Given the description of an element on the screen output the (x, y) to click on. 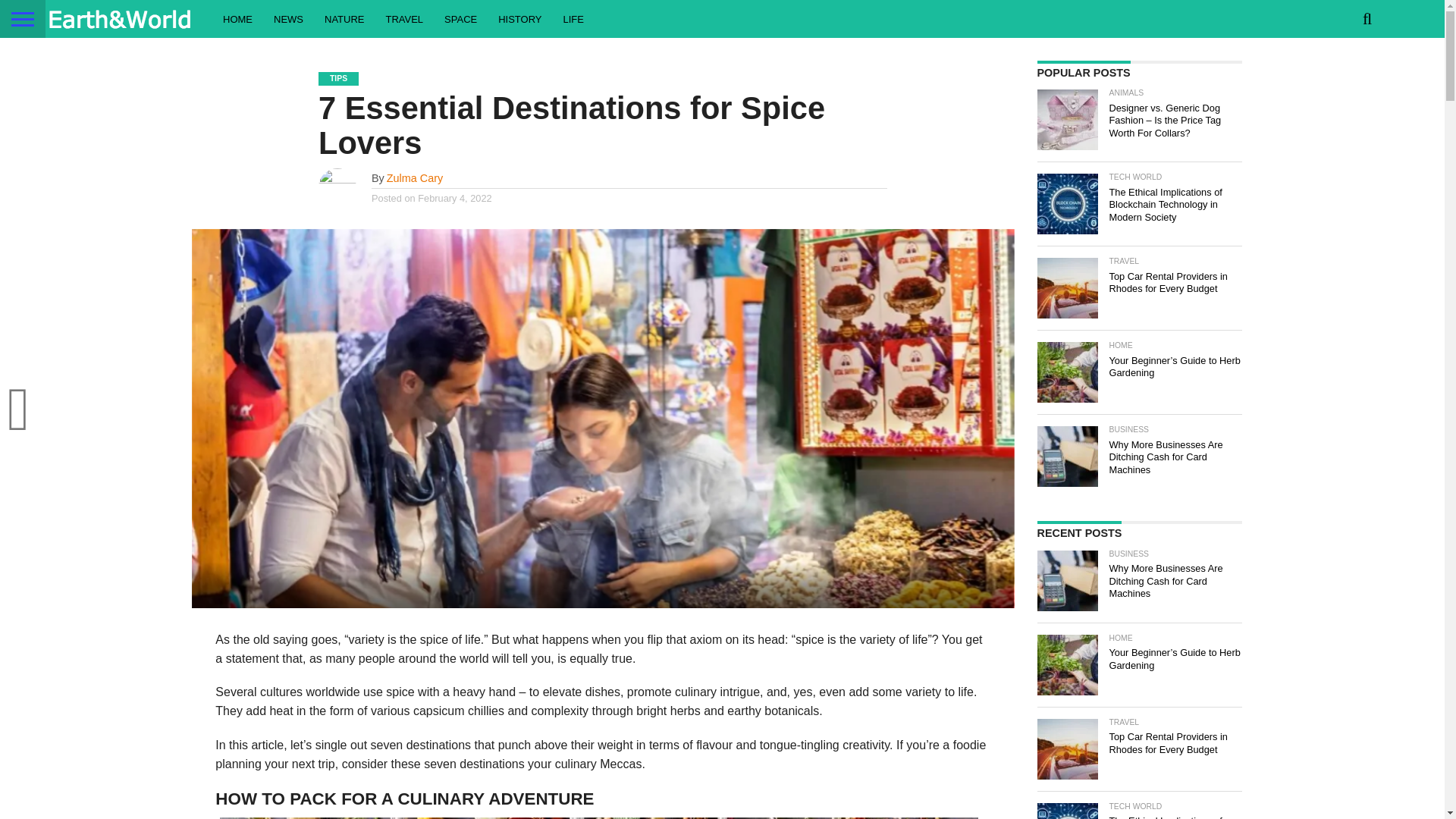
NATURE (344, 18)
Posts by Zulma Cary (414, 177)
Zulma Cary (414, 177)
SPACE (460, 18)
HOME (237, 18)
NEWS (288, 18)
LIFE (573, 18)
HISTORY (519, 18)
TRAVEL (403, 18)
